Given the description of an element on the screen output the (x, y) to click on. 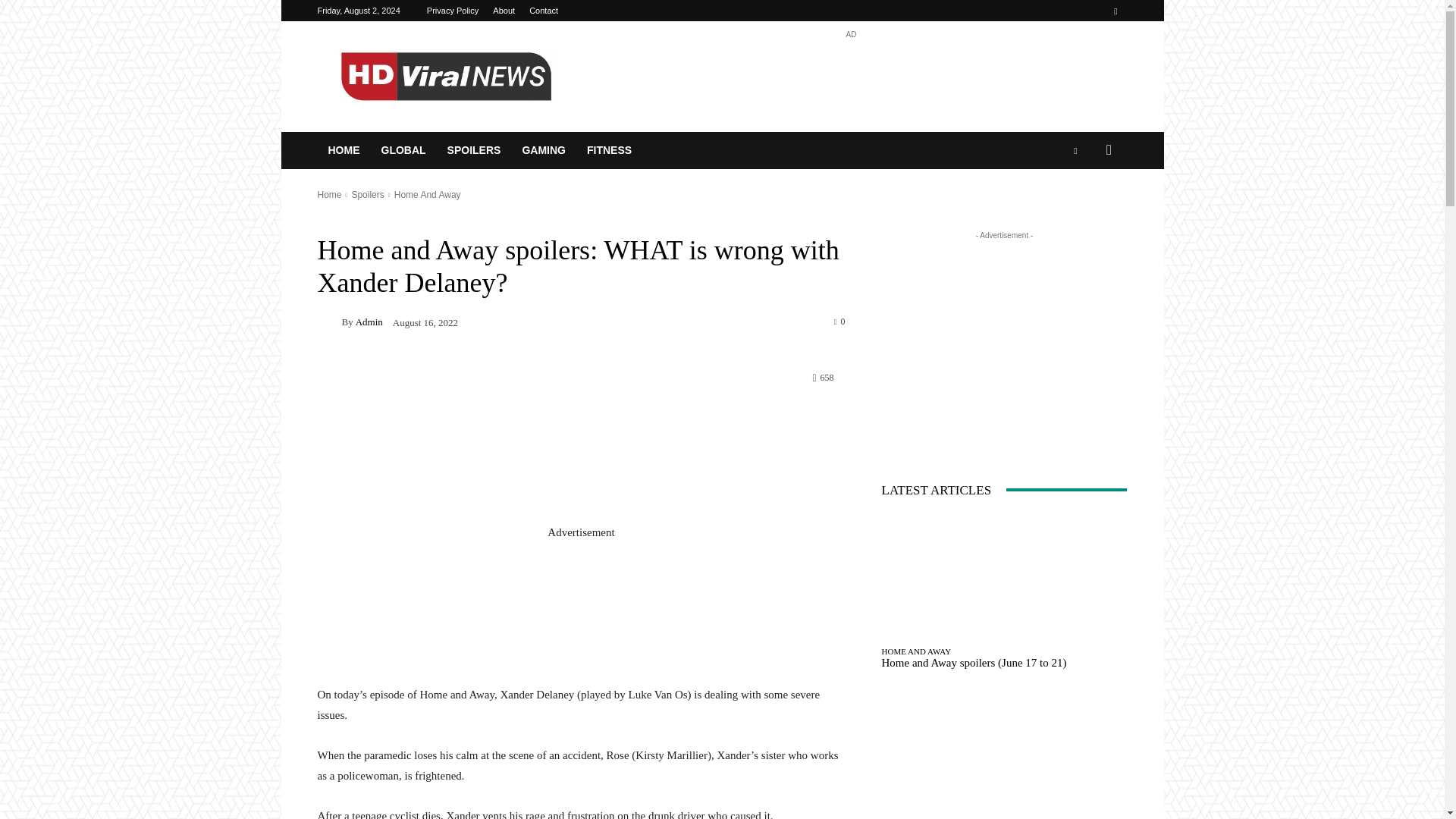
HOME (343, 149)
Facebook (1114, 10)
SPOILERS (474, 149)
About (504, 10)
Privacy Policy (452, 10)
Contact (543, 10)
GLOBAL (402, 149)
